Given the description of an element on the screen output the (x, y) to click on. 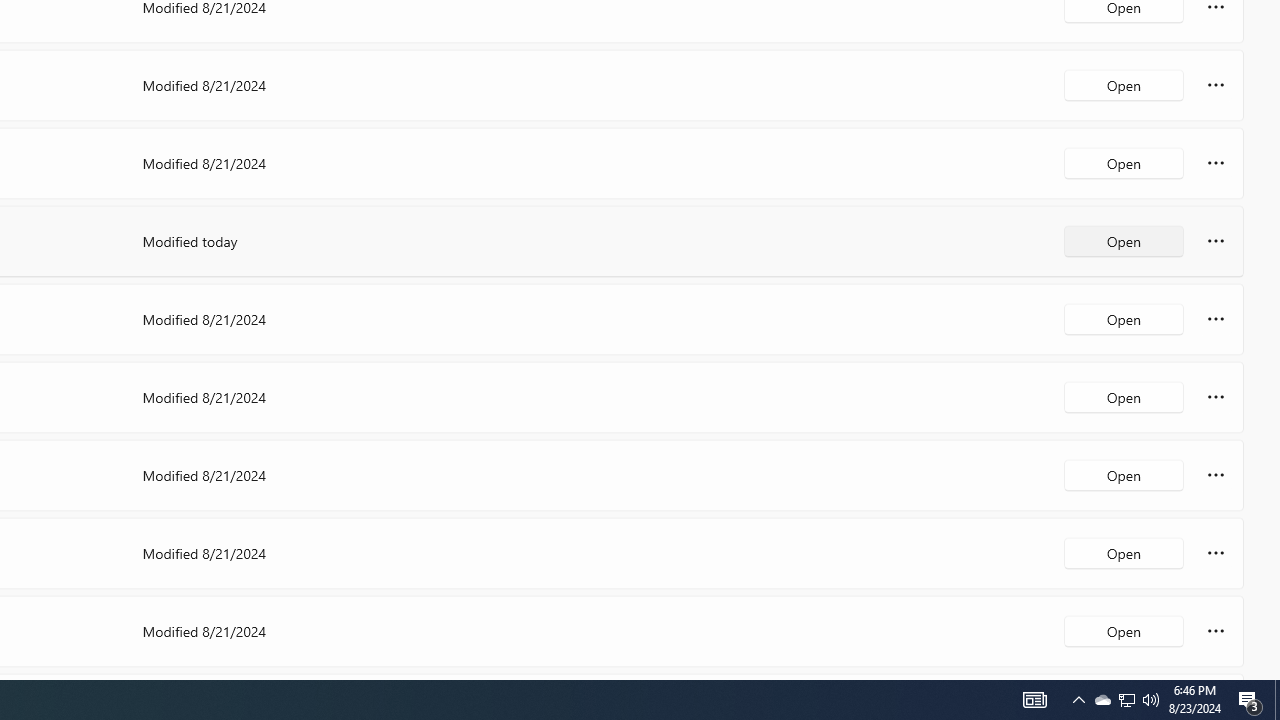
Vertical Small Increase (1272, 672)
Open (1123, 630)
More options (1215, 630)
